Given the description of an element on the screen output the (x, y) to click on. 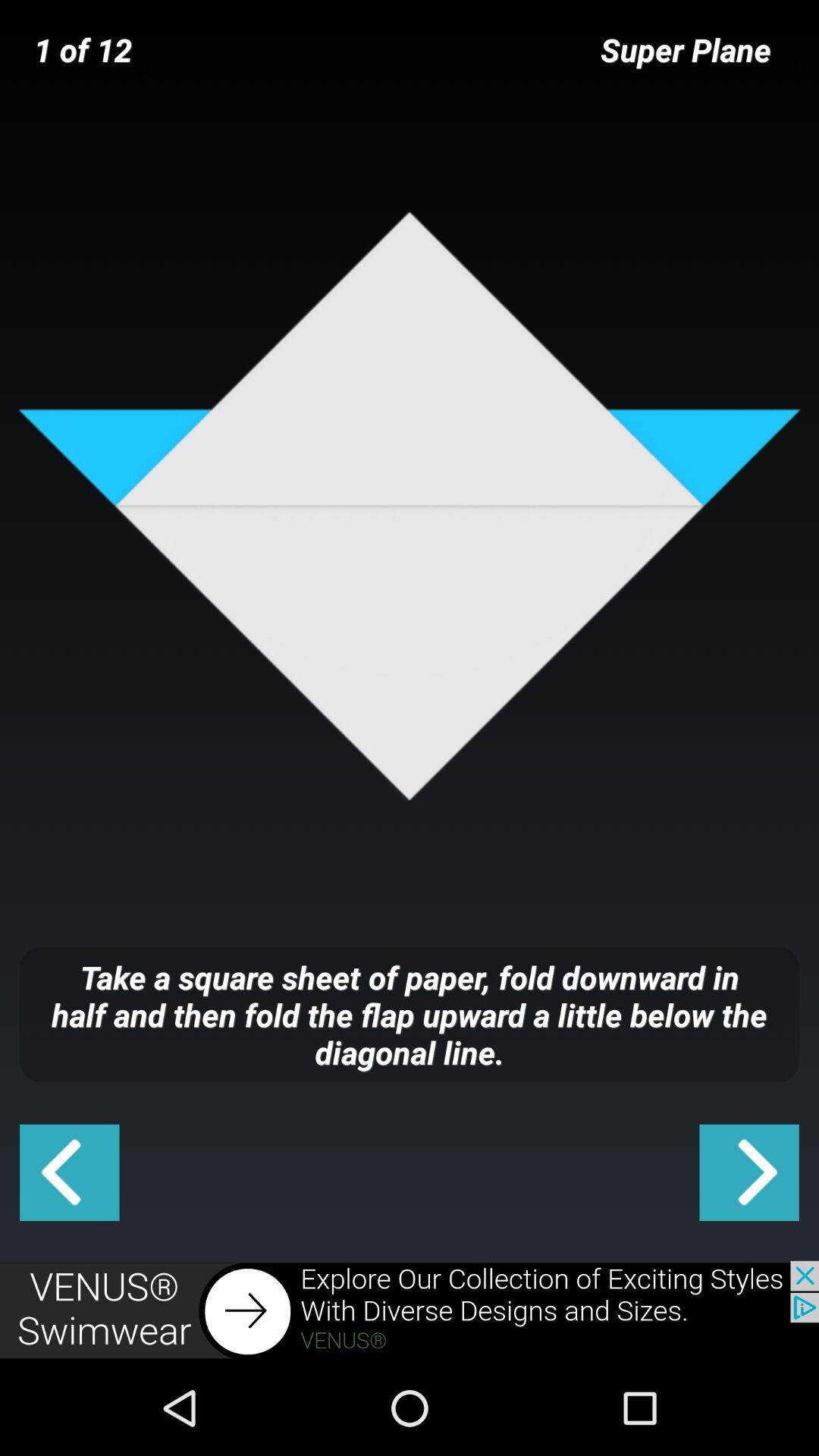
undo button (69, 1172)
